Given the description of an element on the screen output the (x, y) to click on. 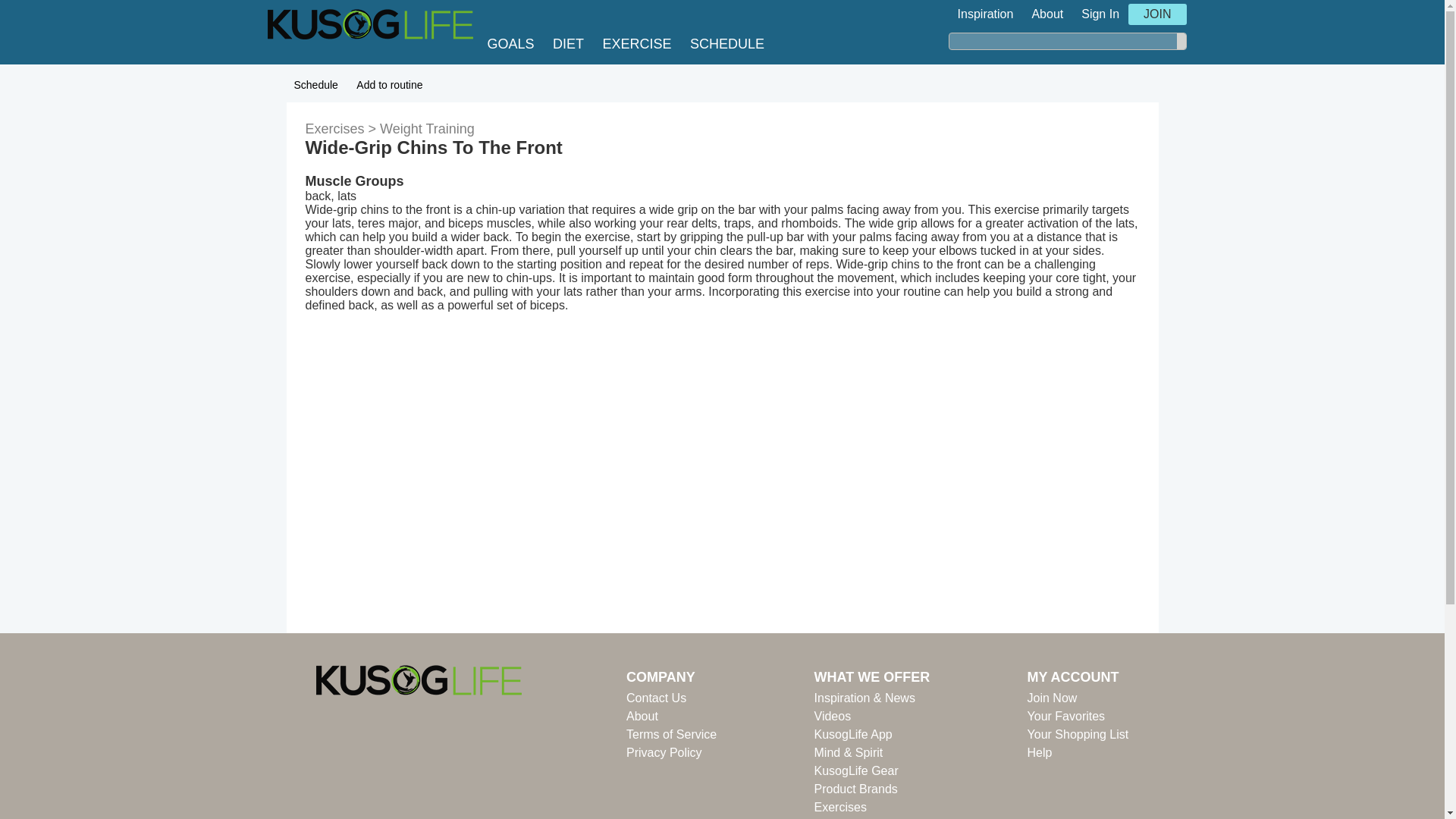
Exercises (342, 129)
Product Brands (871, 789)
SCHEDULE (730, 43)
EXERCISE (640, 43)
Exercises (871, 807)
Join Now (1078, 698)
Your Favorites (1078, 716)
Weight Training (427, 128)
KusogLife Gear (871, 771)
KusogLife App (871, 734)
Help (1078, 752)
Contact Us (671, 698)
Schedule (314, 82)
Add to Routine (389, 82)
DIET (571, 43)
